Given the description of an element on the screen output the (x, y) to click on. 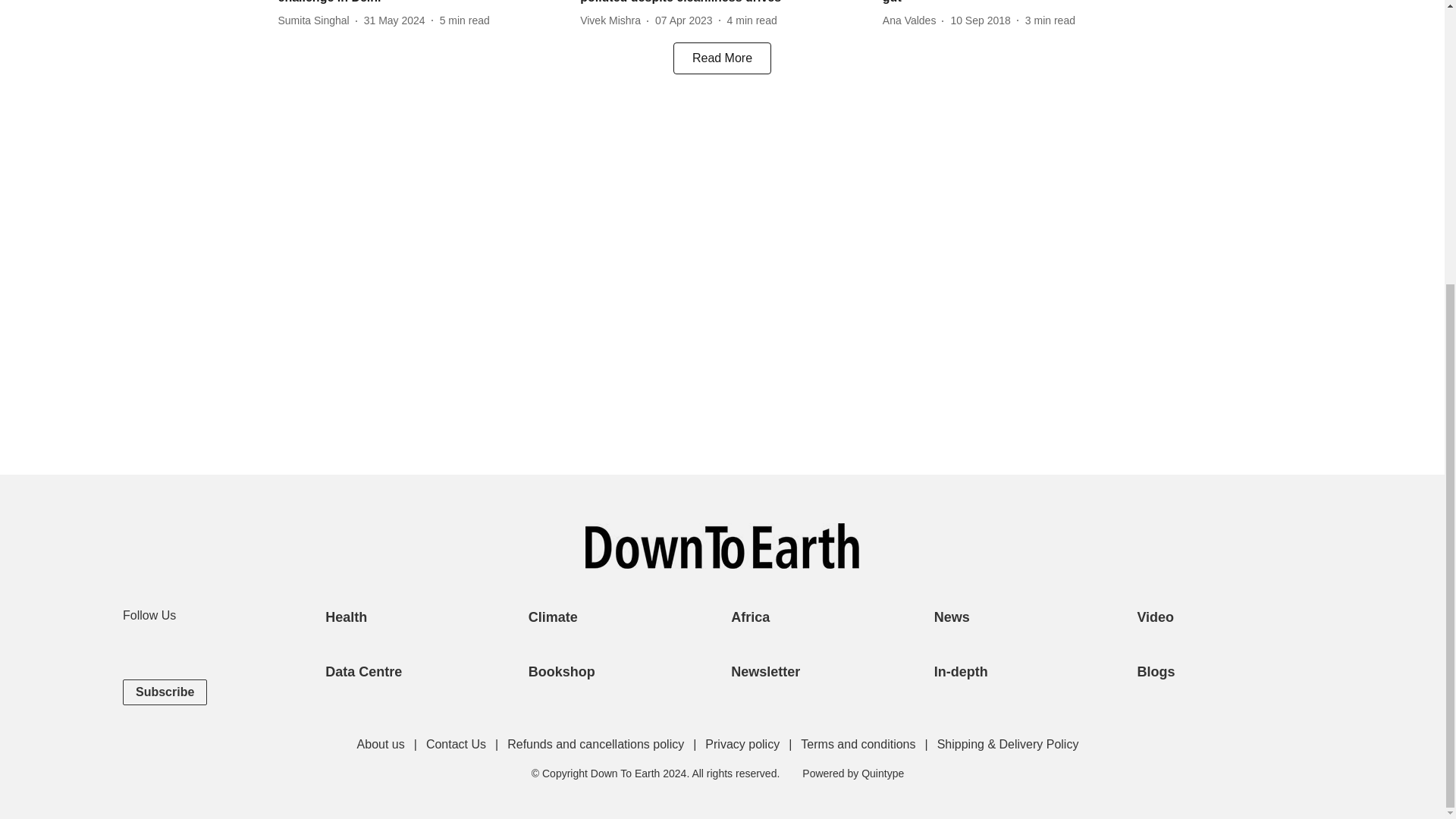
2024-05-31 12:24 (394, 20)
2023-04-07 03:59 (684, 20)
Vivek Mishra (612, 20)
Sumita Singhal (316, 20)
2018-09-10 03:35 (980, 20)
